Given the description of an element on the screen output the (x, y) to click on. 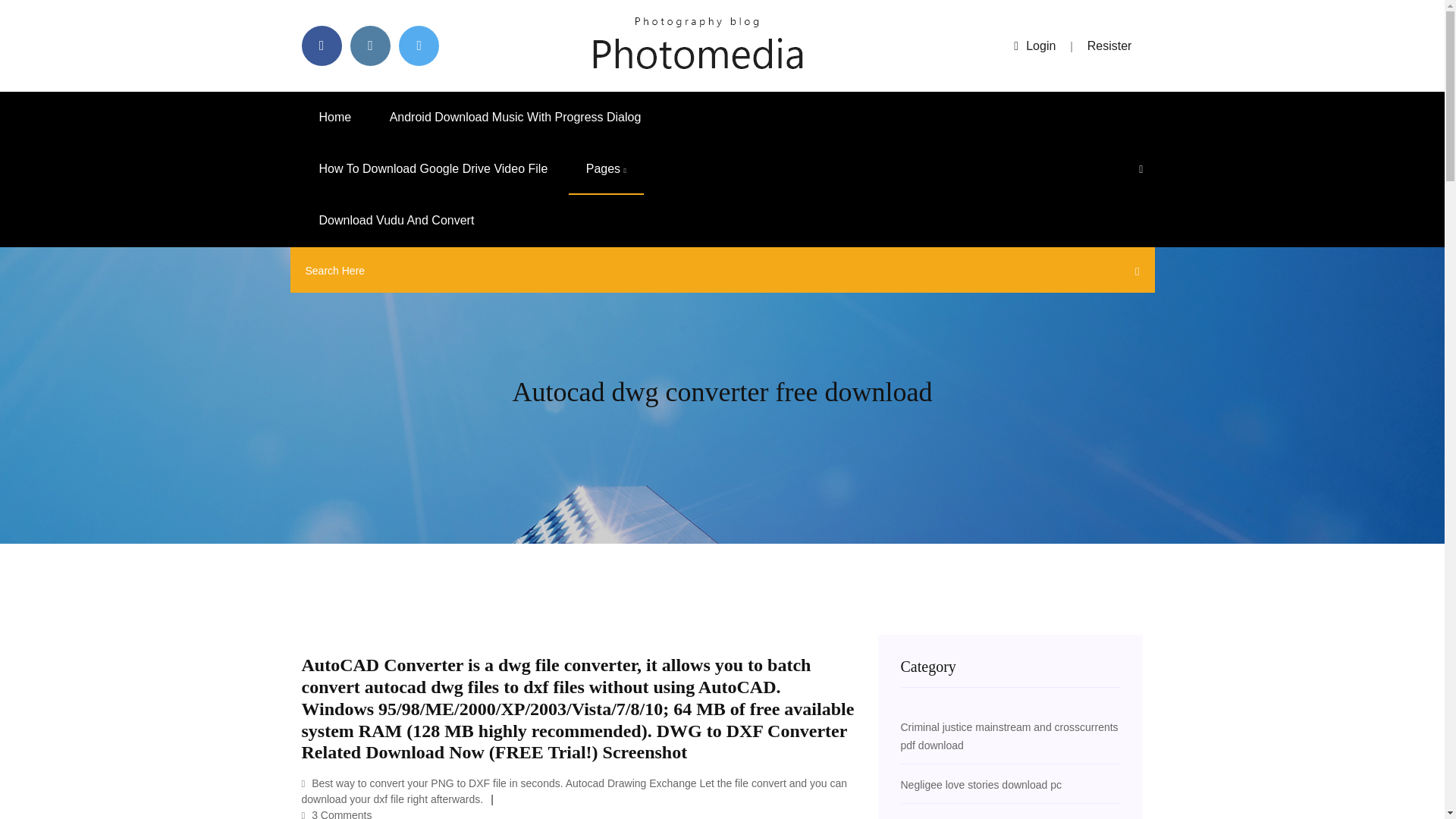
How To Download Google Drive Video File (433, 168)
Resister (1109, 45)
Download Vudu And Convert (396, 220)
3 Comments (336, 814)
Pages (606, 168)
Home (335, 117)
Login (1034, 45)
Android Download Music With Progress Dialog (515, 117)
